Given the description of an element on the screen output the (x, y) to click on. 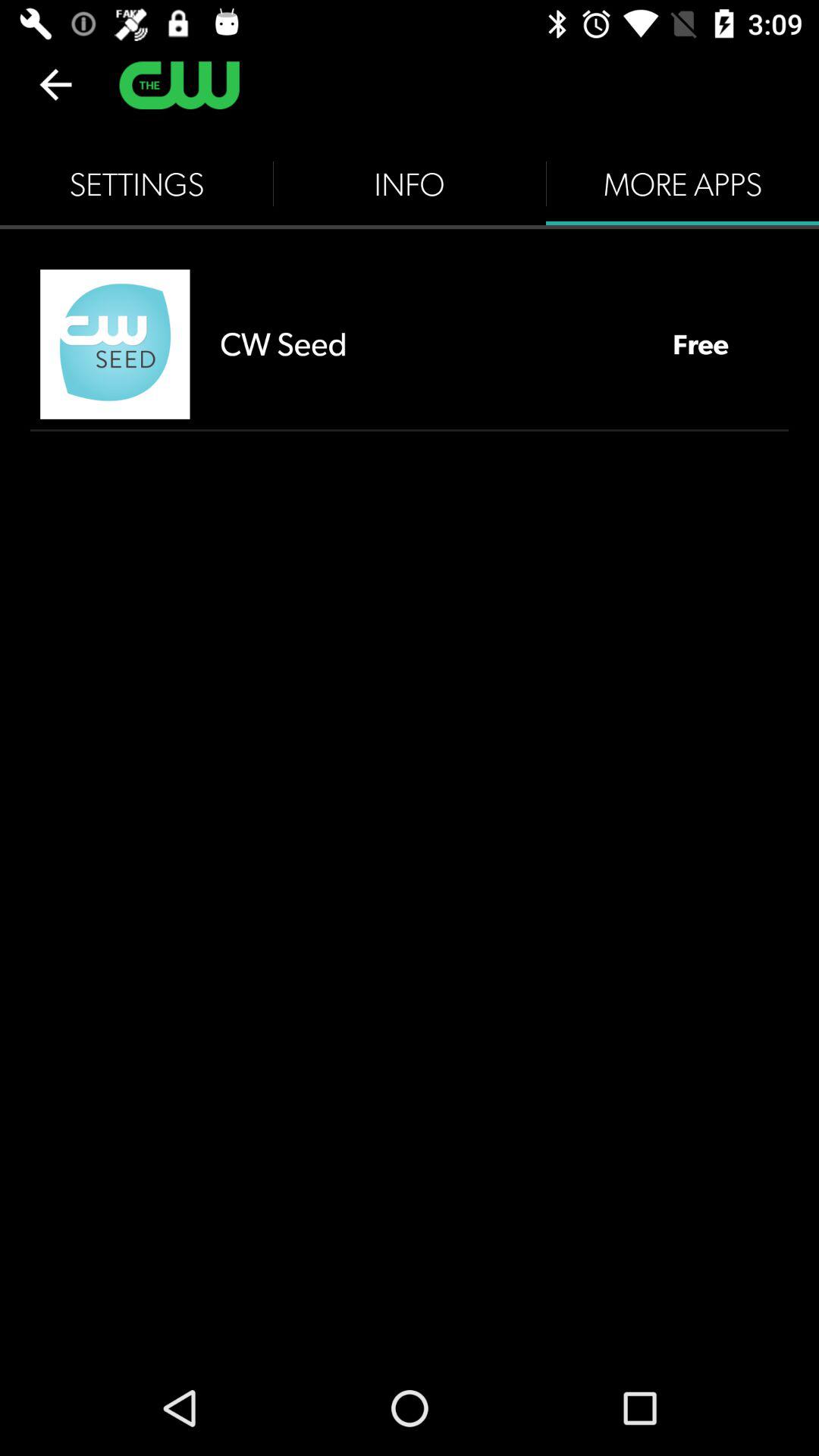
scroll to the more apps icon (682, 184)
